Given the description of an element on the screen output the (x, y) to click on. 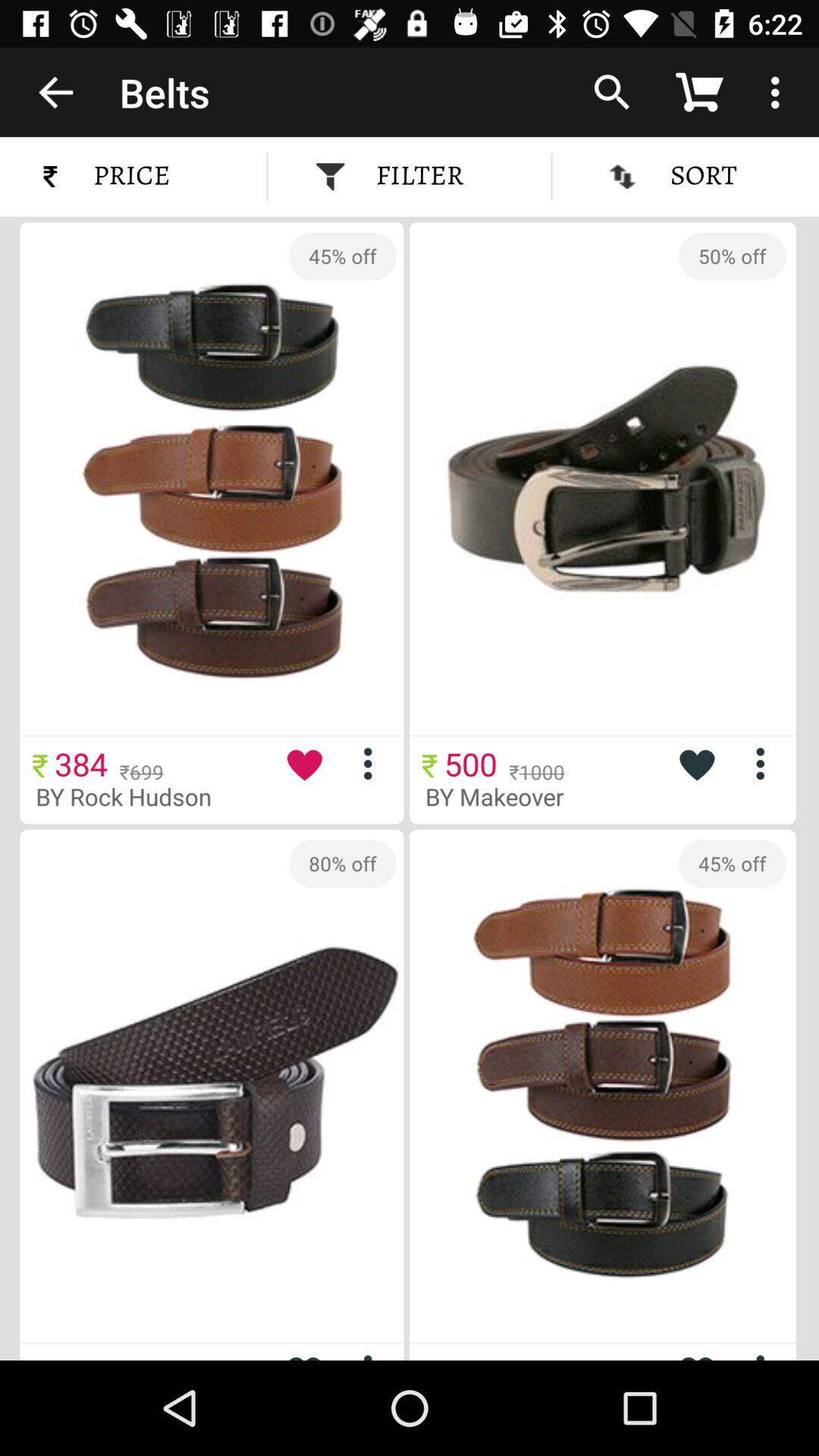
open more options (766, 763)
